Given the description of an element on the screen output the (x, y) to click on. 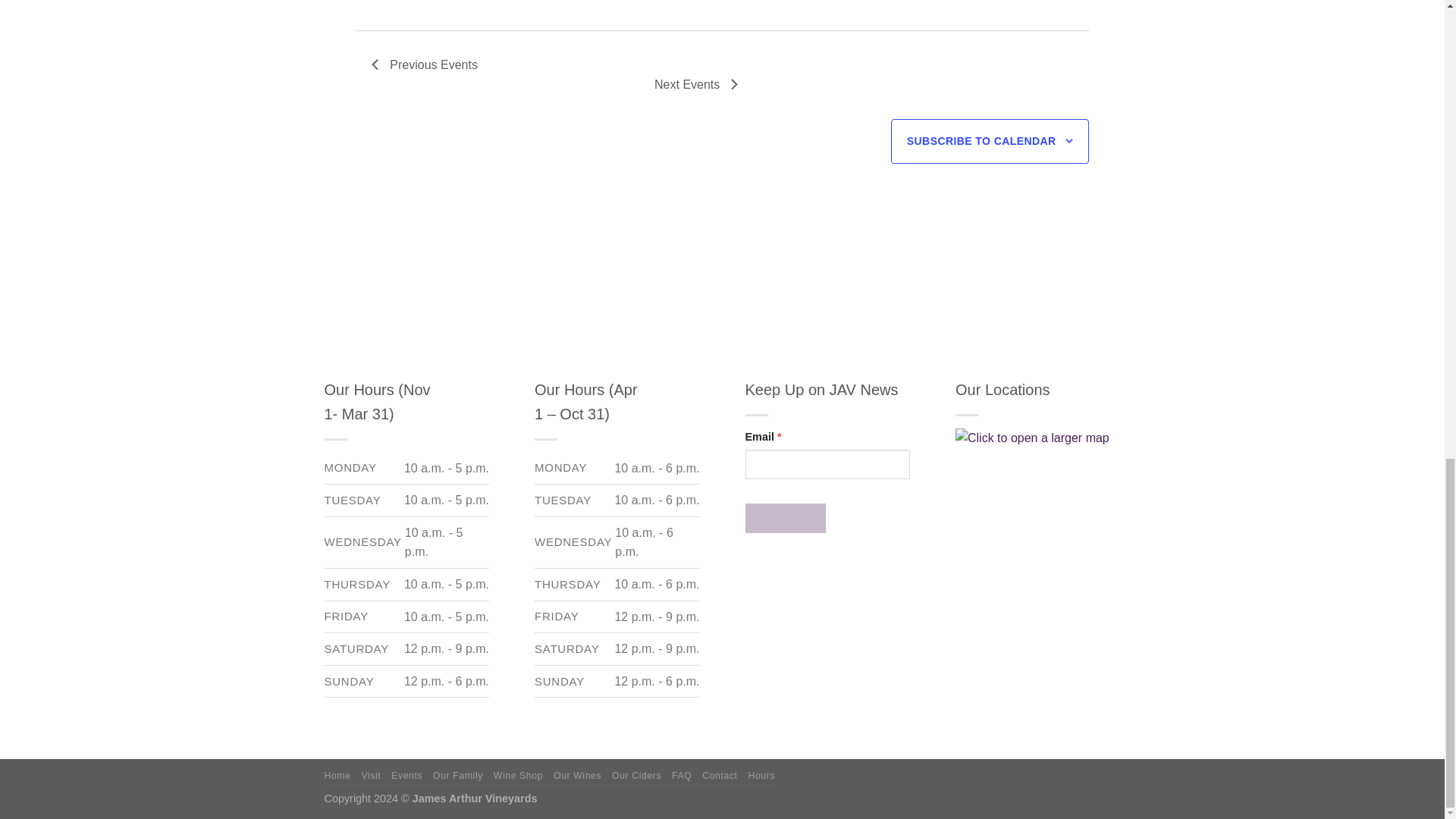
Sign up (784, 518)
Previous Events (424, 65)
Next Events (695, 85)
